Given the description of an element on the screen output the (x, y) to click on. 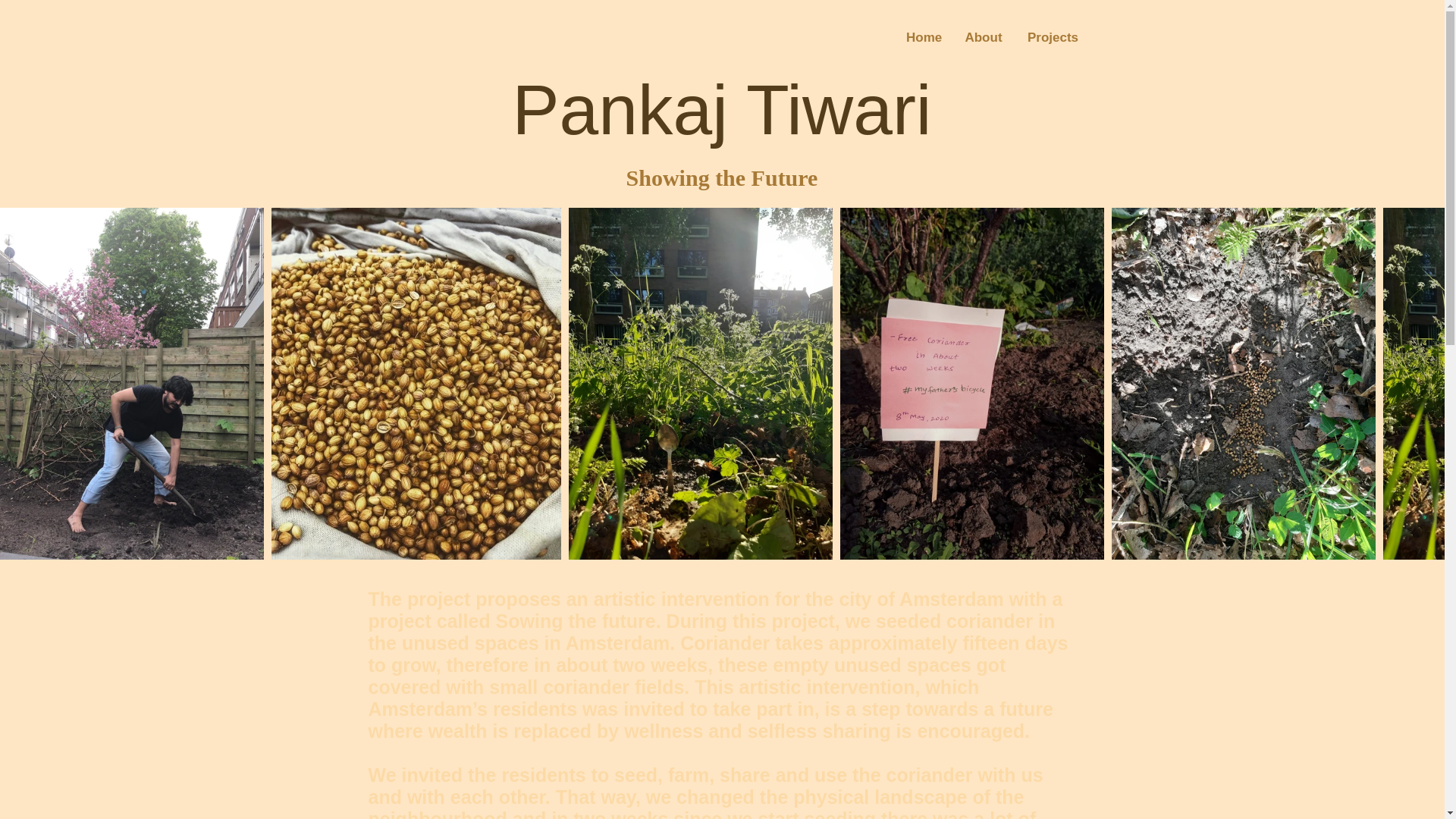
Home (923, 37)
Projects (1052, 37)
About (983, 37)
Pankaj Tiwari (721, 109)
